Given the description of an element on the screen output the (x, y) to click on. 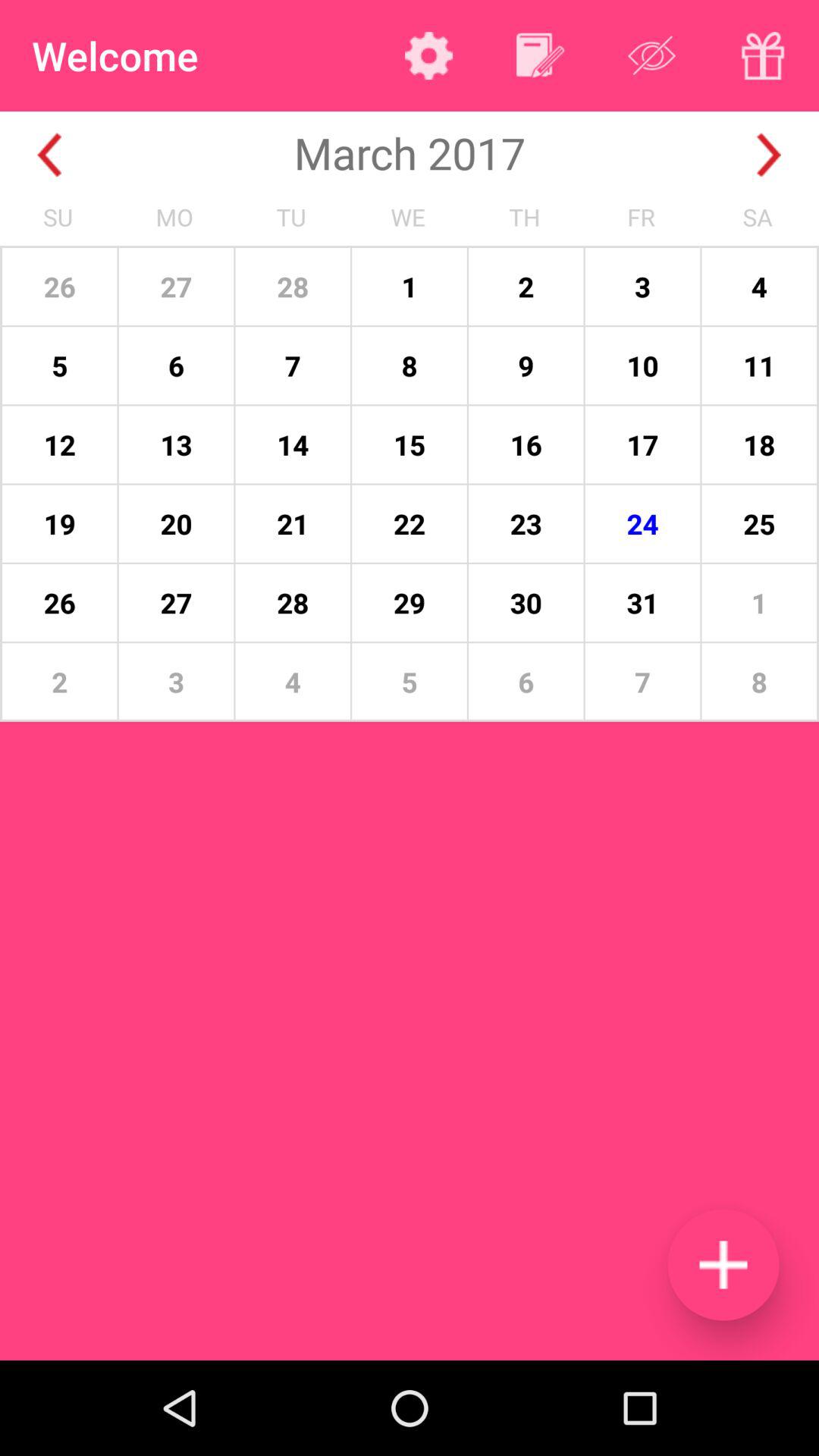
go backwards one month (49, 155)
